Given the description of an element on the screen output the (x, y) to click on. 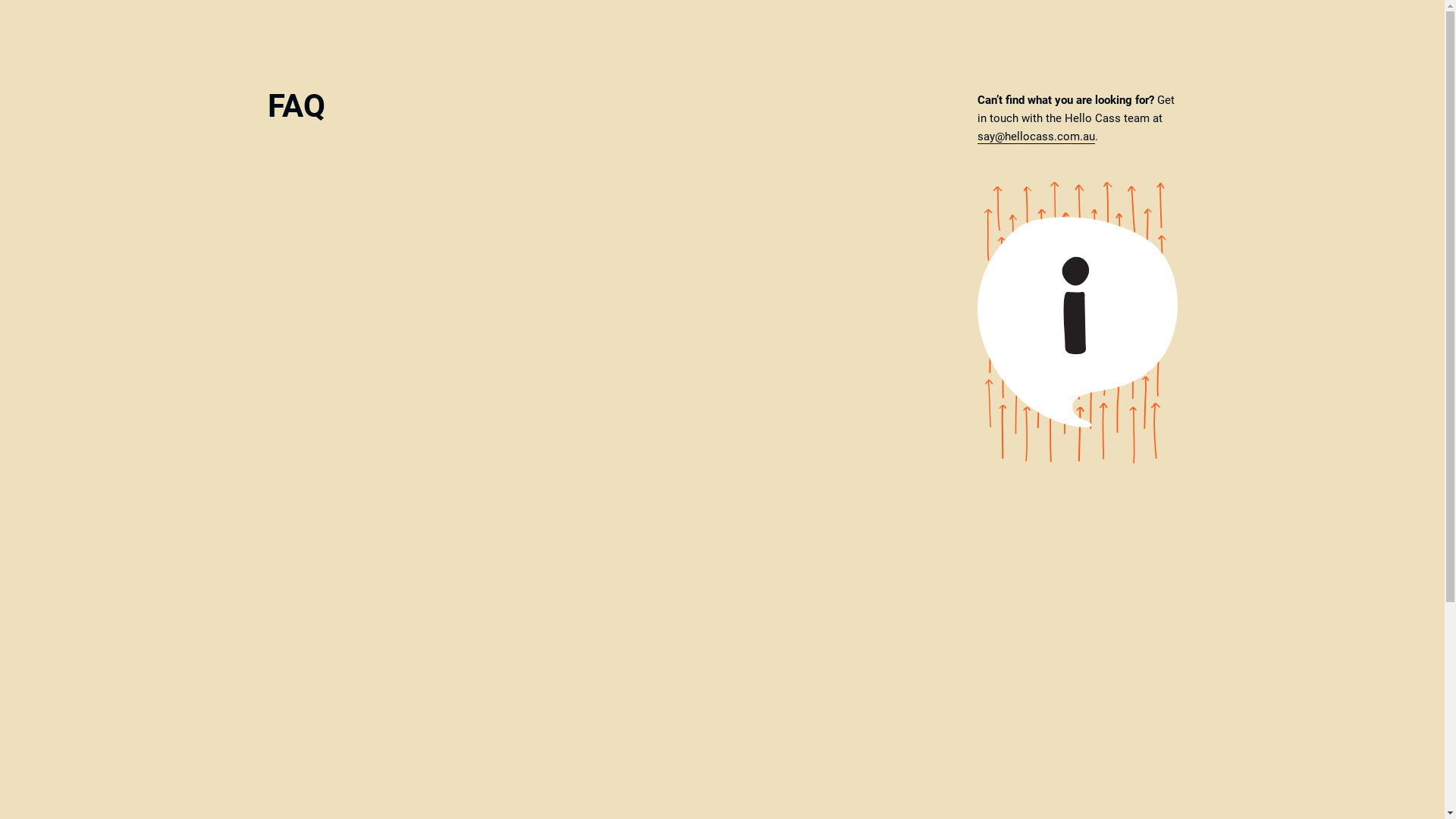
say@hellocass.com.au Element type: text (1035, 136)
